Given the description of an element on the screen output the (x, y) to click on. 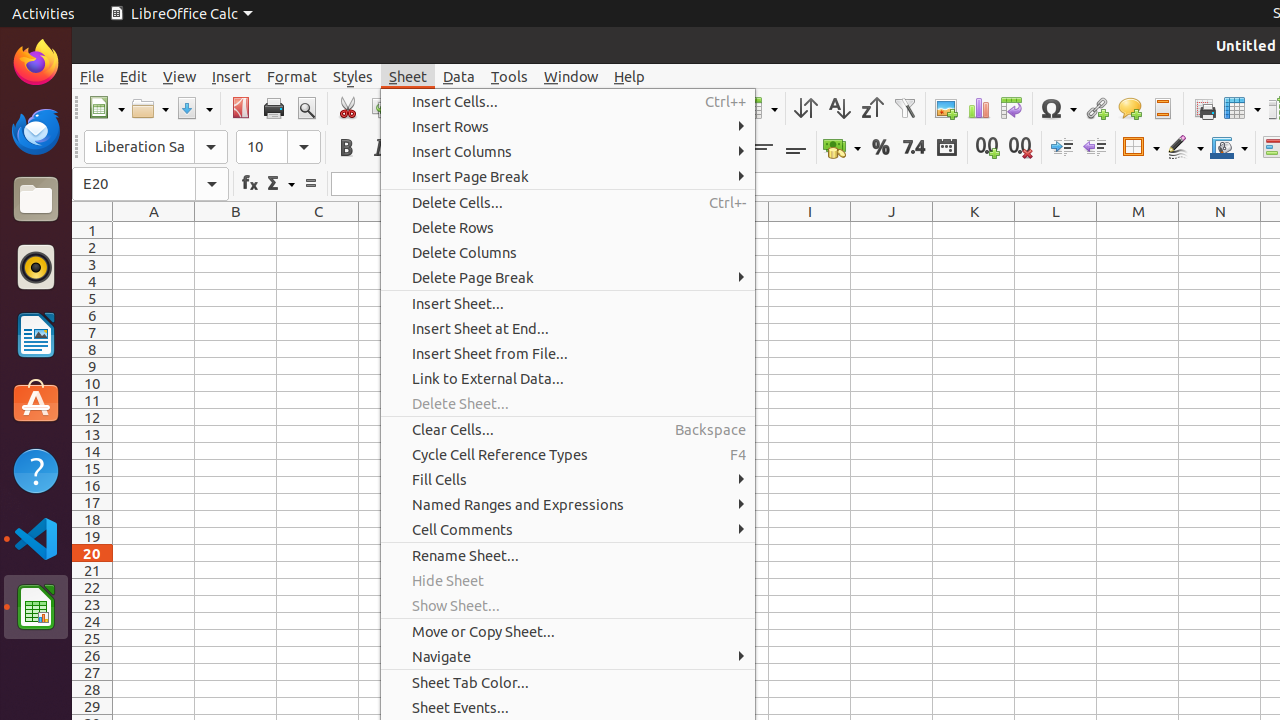
Link to External Data... Element type: menu-item (568, 378)
Styles Element type: menu (353, 76)
Delete Cells... Element type: menu-item (568, 202)
Delete Columns Element type: menu-item (568, 252)
Print Preview Element type: toggle-button (306, 108)
